Given the description of an element on the screen output the (x, y) to click on. 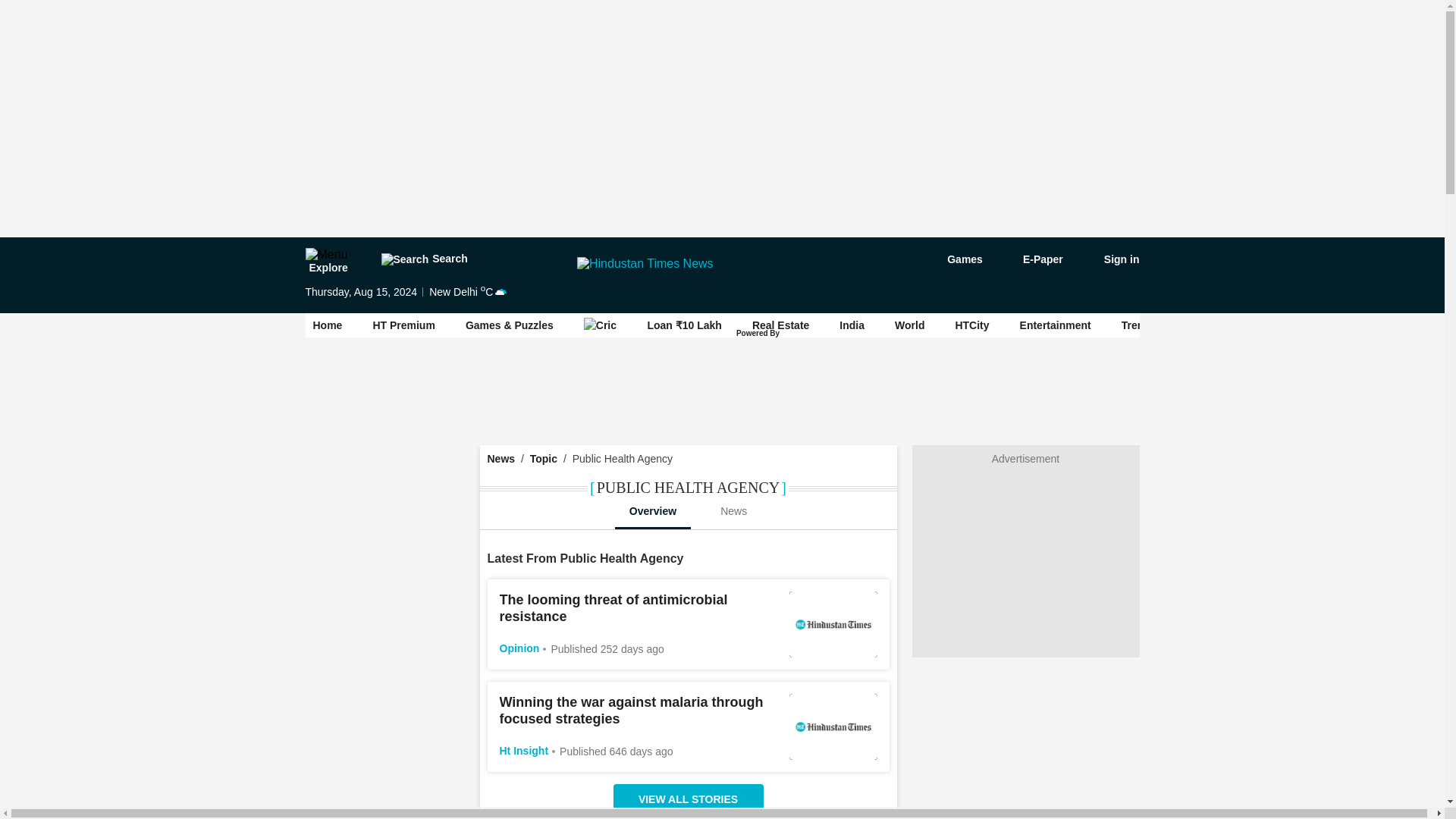
Entertainment (1055, 325)
Trending (1143, 325)
Search (423, 258)
Games (954, 258)
E-Paper (1034, 258)
Ht Insight (523, 750)
Topic (543, 458)
World (909, 325)
India (852, 325)
